Given the description of an element on the screen output the (x, y) to click on. 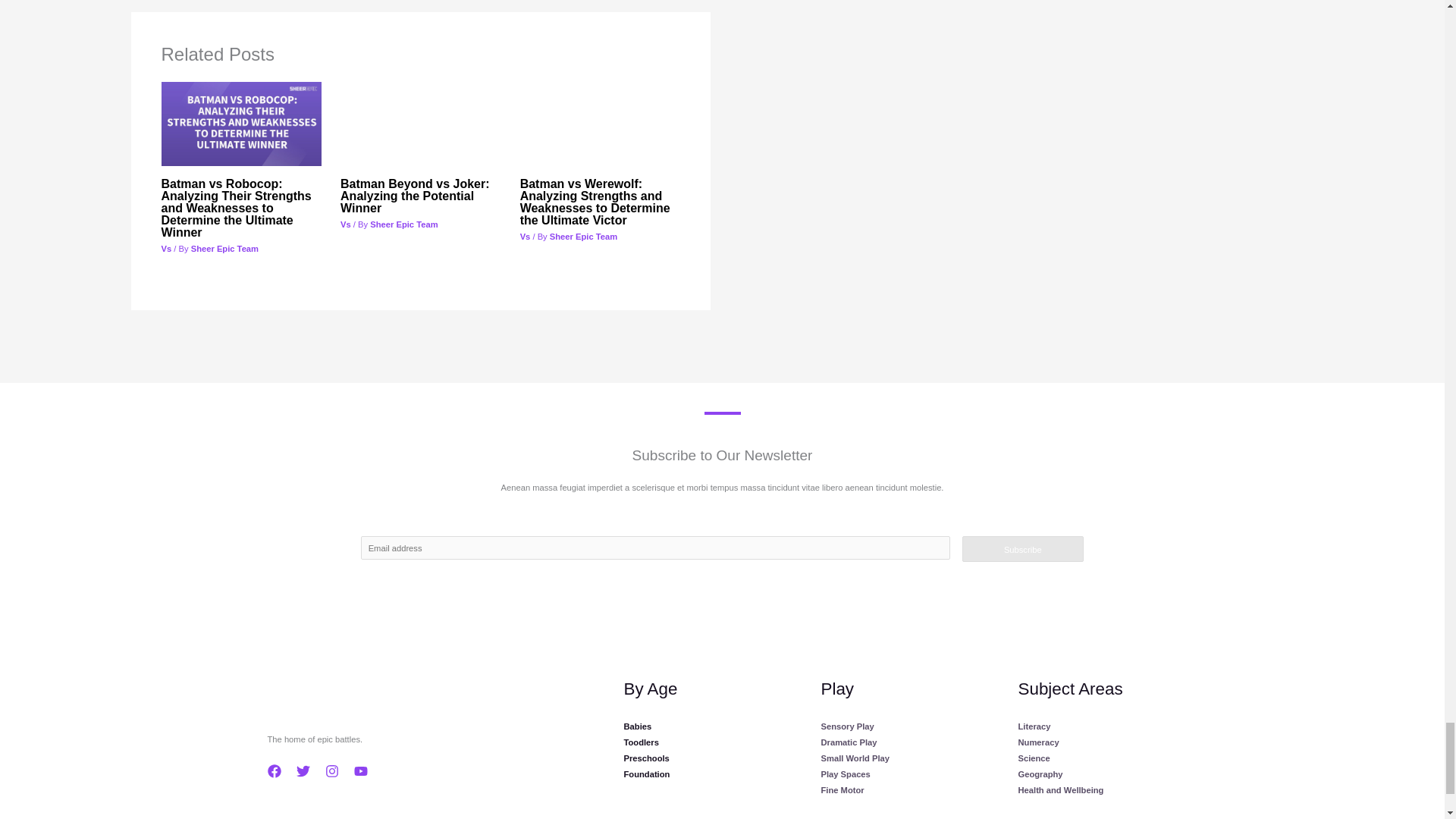
View all posts by Sheer Epic Team (583, 235)
Vs (165, 248)
Sheer Epic Team (583, 235)
View all posts by Sheer Epic Team (224, 248)
Sheer Epic Team (224, 248)
View all posts by Sheer Epic Team (403, 224)
Batman Beyond vs Joker: Analyzing the Potential Winner (414, 195)
Vs (525, 235)
Vs (345, 224)
Sheer Epic Team (403, 224)
